Given the description of an element on the screen output the (x, y) to click on. 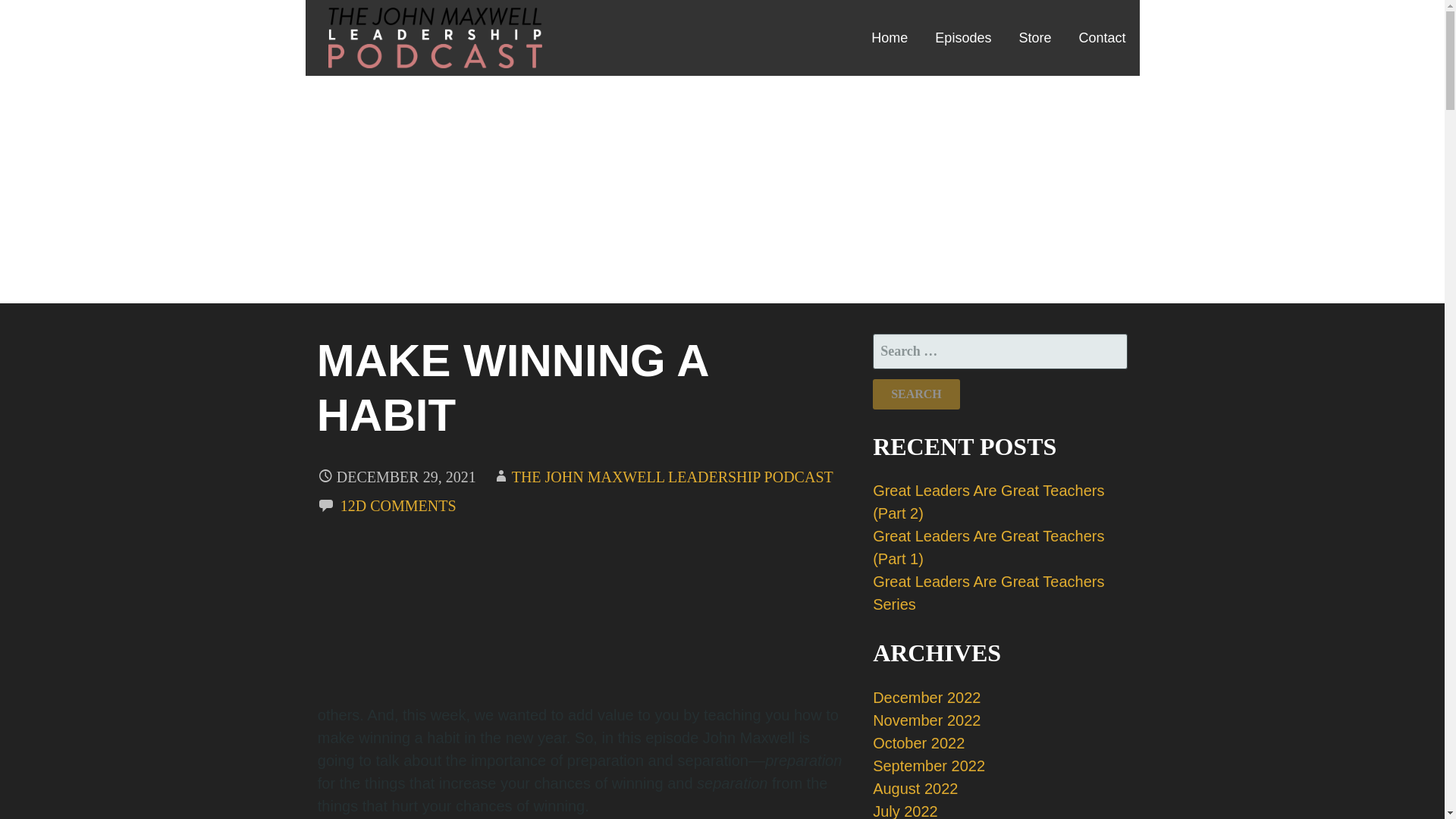
Search (915, 394)
12D COMMENTS (398, 505)
Search (915, 394)
Contact (1101, 38)
Embed Player (582, 613)
THE JOHN MAXWELL LEADERSHIP PODCAST (672, 476)
Posts by The John Maxwell Leadership Podcast (672, 476)
Episodes (962, 38)
JOHN MAXWELL LEADERSHIP PODCAST (521, 86)
